Given the description of an element on the screen output the (x, y) to click on. 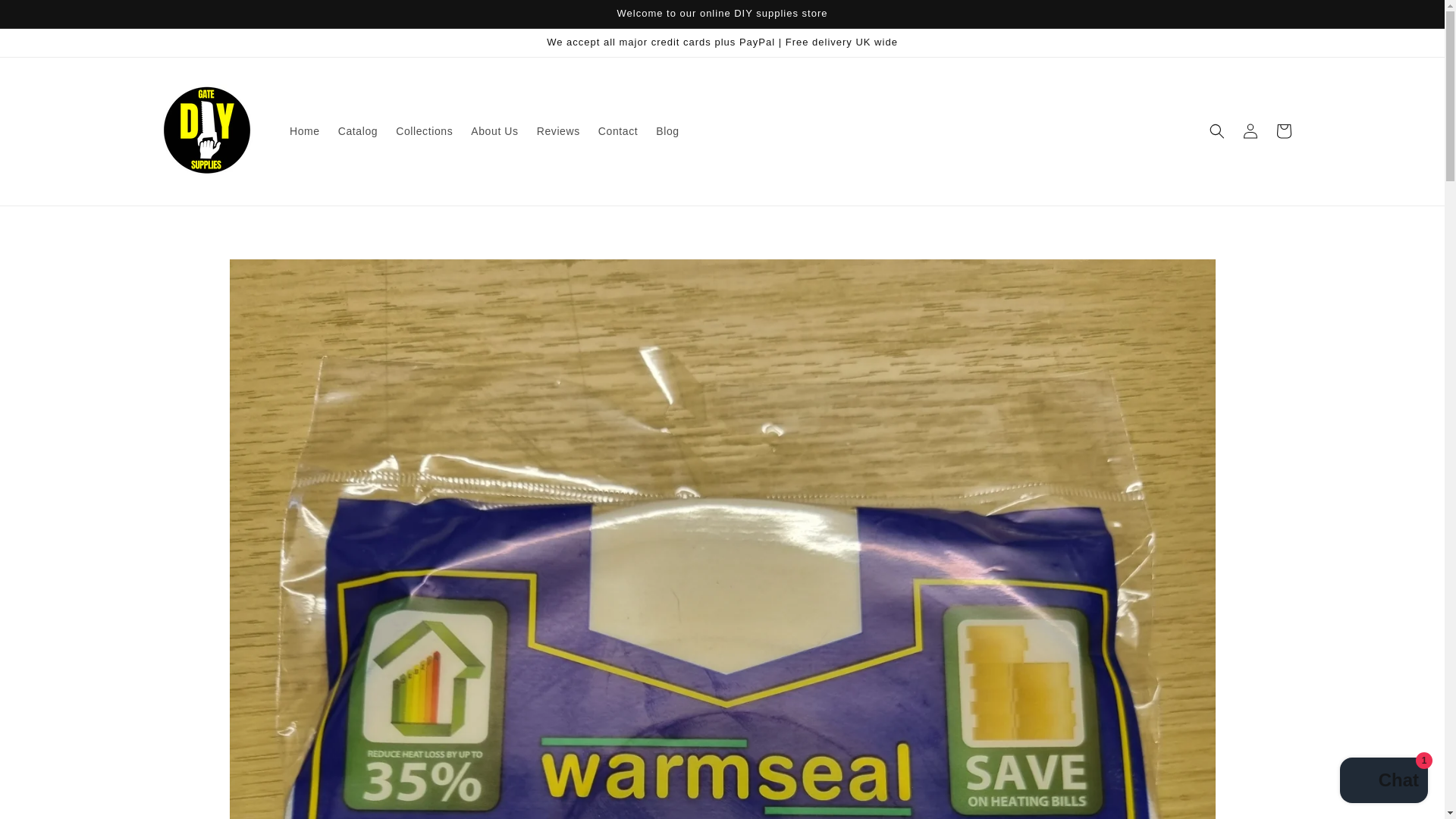
Shopify online store chat (1383, 781)
Home (305, 131)
Cart (1283, 131)
Catalog (358, 131)
Skip to content (45, 16)
Contact (617, 131)
Log in (1249, 131)
About Us (494, 131)
Blog (666, 131)
Collections (424, 131)
Reviews (558, 131)
